Given the description of an element on the screen output the (x, y) to click on. 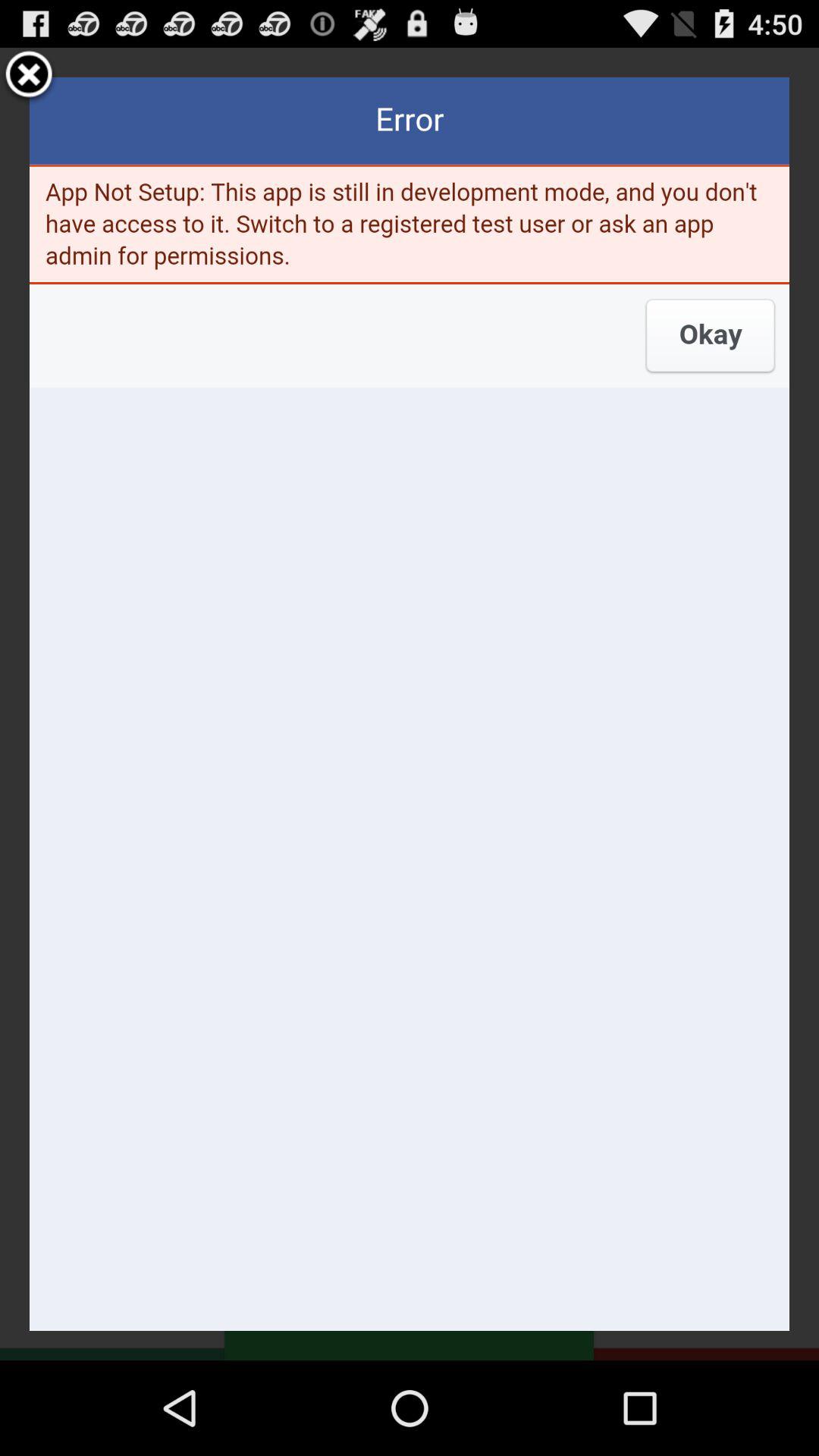
close (29, 76)
